Given the description of an element on the screen output the (x, y) to click on. 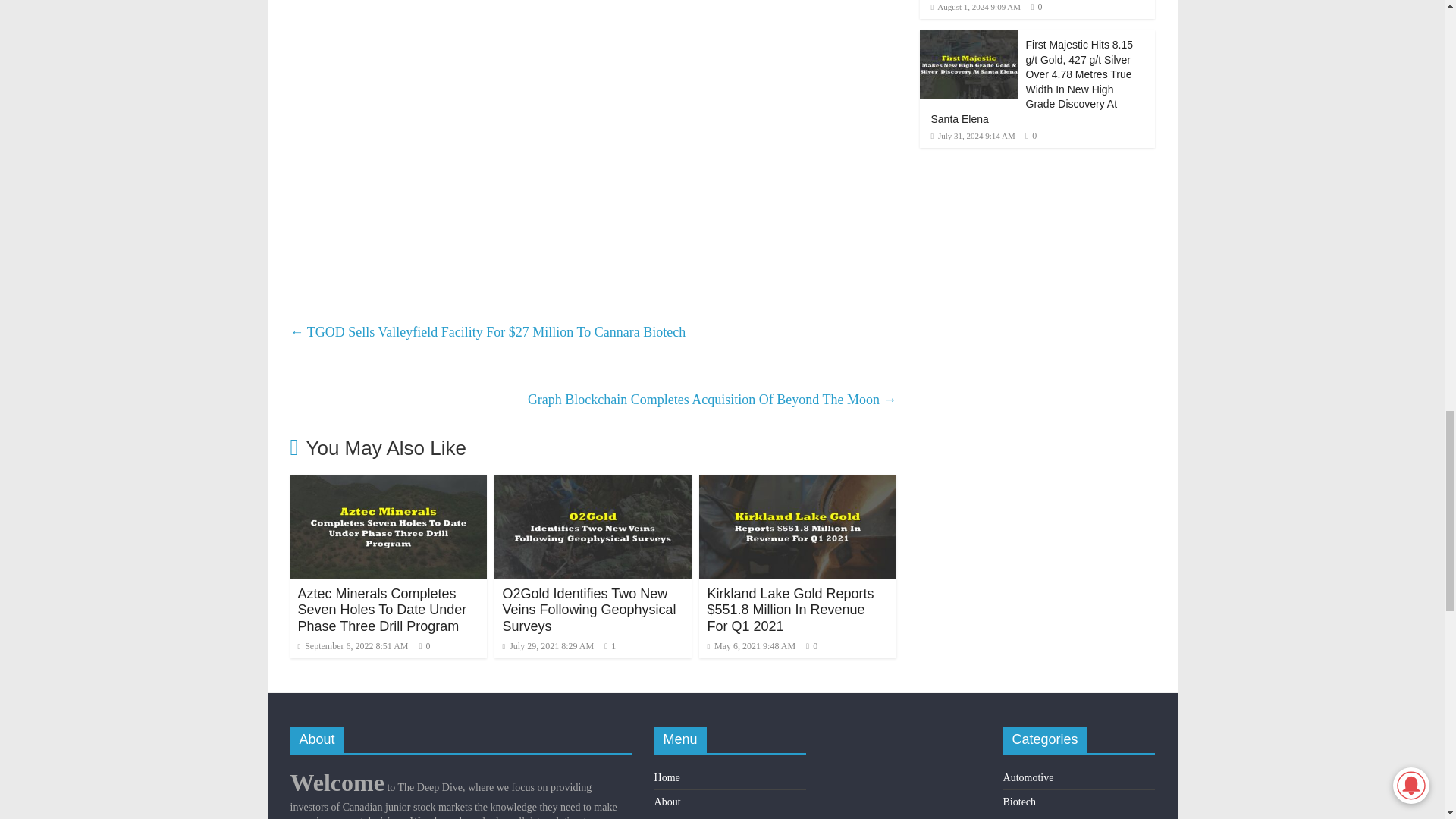
8:51 am (352, 645)
